Given the description of an element on the screen output the (x, y) to click on. 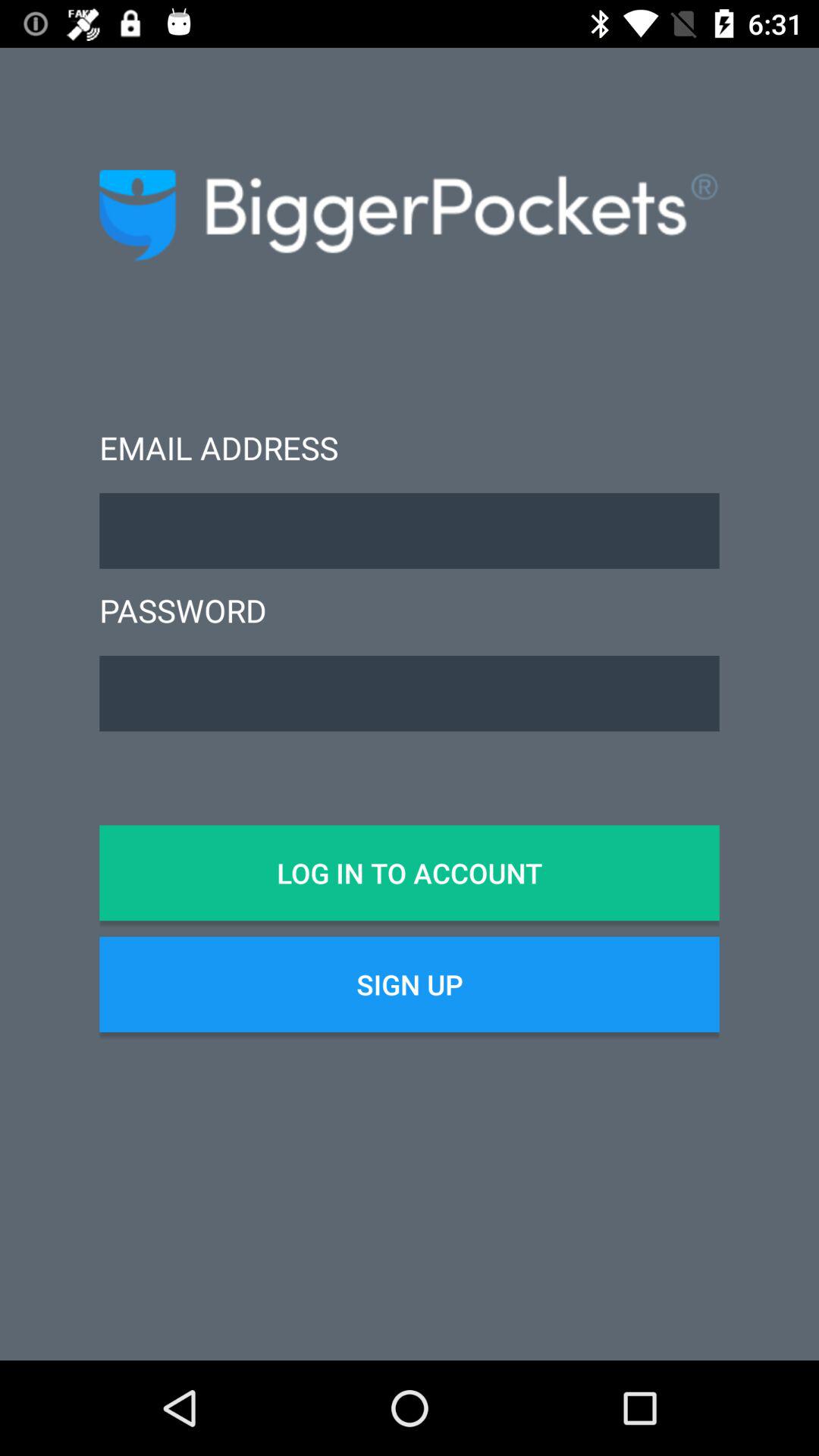
click item above sign up item (409, 872)
